Given the description of an element on the screen output the (x, y) to click on. 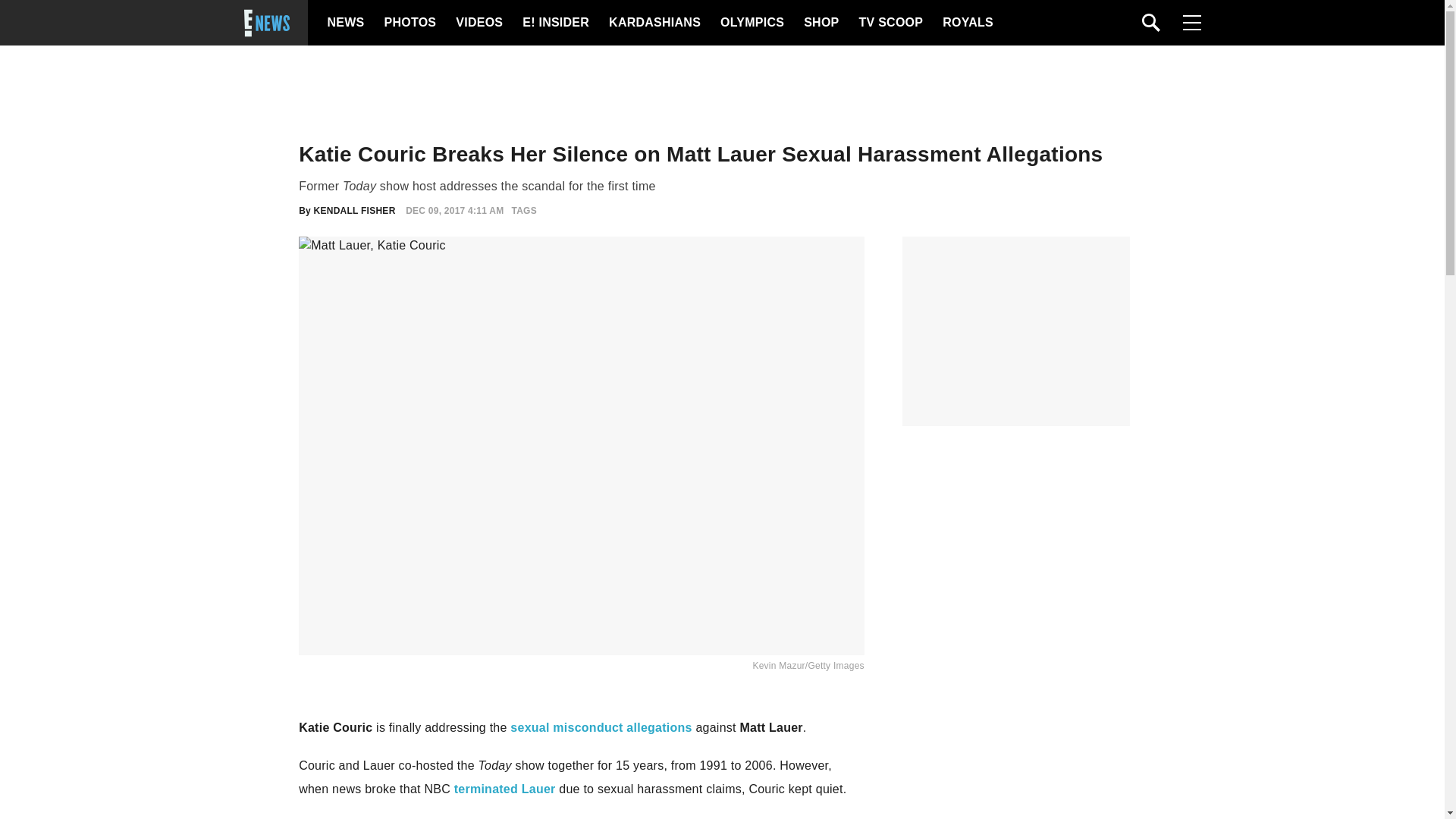
KENDALL FISHER (355, 210)
VIDEOS (478, 22)
OLYMPICS (751, 22)
PHOTOS (408, 22)
SHOP (820, 22)
terminated Lauer (505, 788)
NEWS (345, 22)
ROYALS (966, 22)
TV SCOOP (890, 22)
sexual misconduct allegations (601, 727)
KARDASHIANS (653, 22)
E! INSIDER (555, 22)
